Given the description of an element on the screen output the (x, y) to click on. 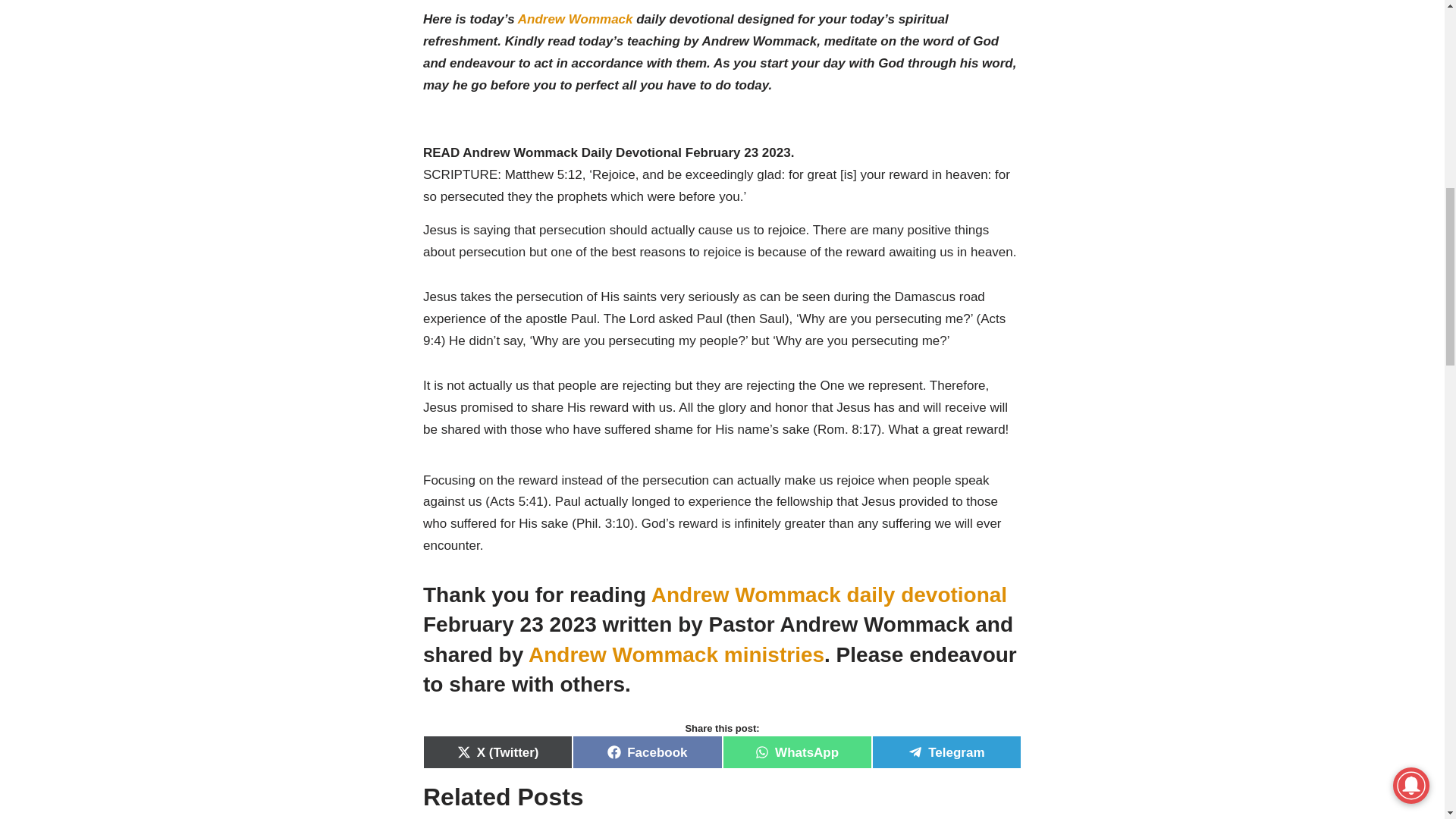
Andrew Wommack (575, 19)
WhatsApp (796, 752)
Telegram (947, 752)
Andrew Wommack daily devotional (828, 594)
Facebook (647, 752)
Andrew Wommack ministries (676, 654)
